Given the description of an element on the screen output the (x, y) to click on. 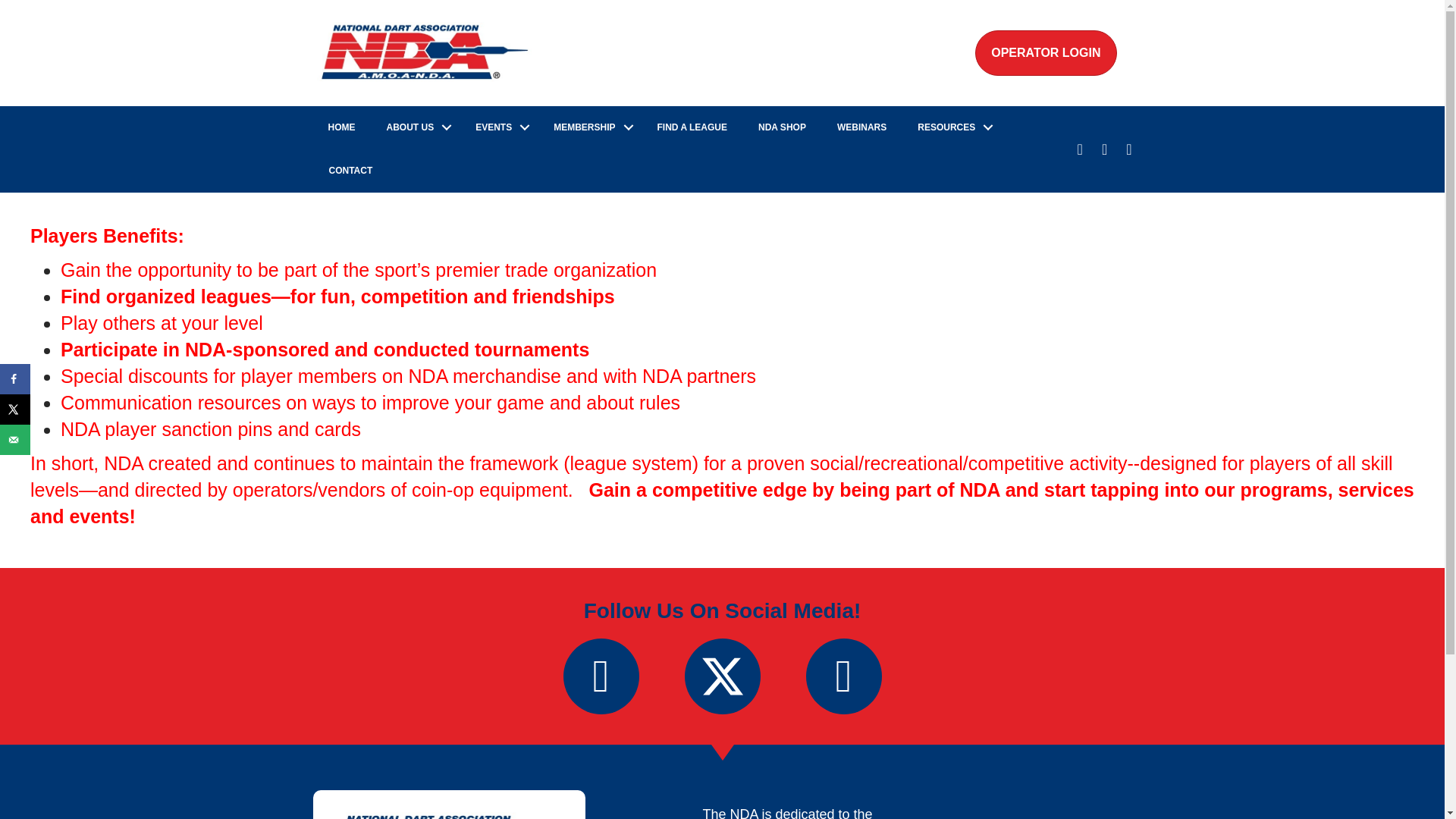
Share on Facebook (15, 378)
Send over email (15, 440)
Facebook (600, 676)
FIND A LEAGUE (692, 127)
HOME (341, 127)
WEBINARS (861, 127)
nda darts color logo (448, 815)
OPERATOR LOGIN (1045, 53)
MEMBERSHIP (589, 127)
CONTACT (351, 170)
Share on X (15, 409)
ABOUT US (415, 127)
EVENTS (498, 127)
RESOURCES (951, 127)
NDA SHOP (781, 127)
